Given the description of an element on the screen output the (x, y) to click on. 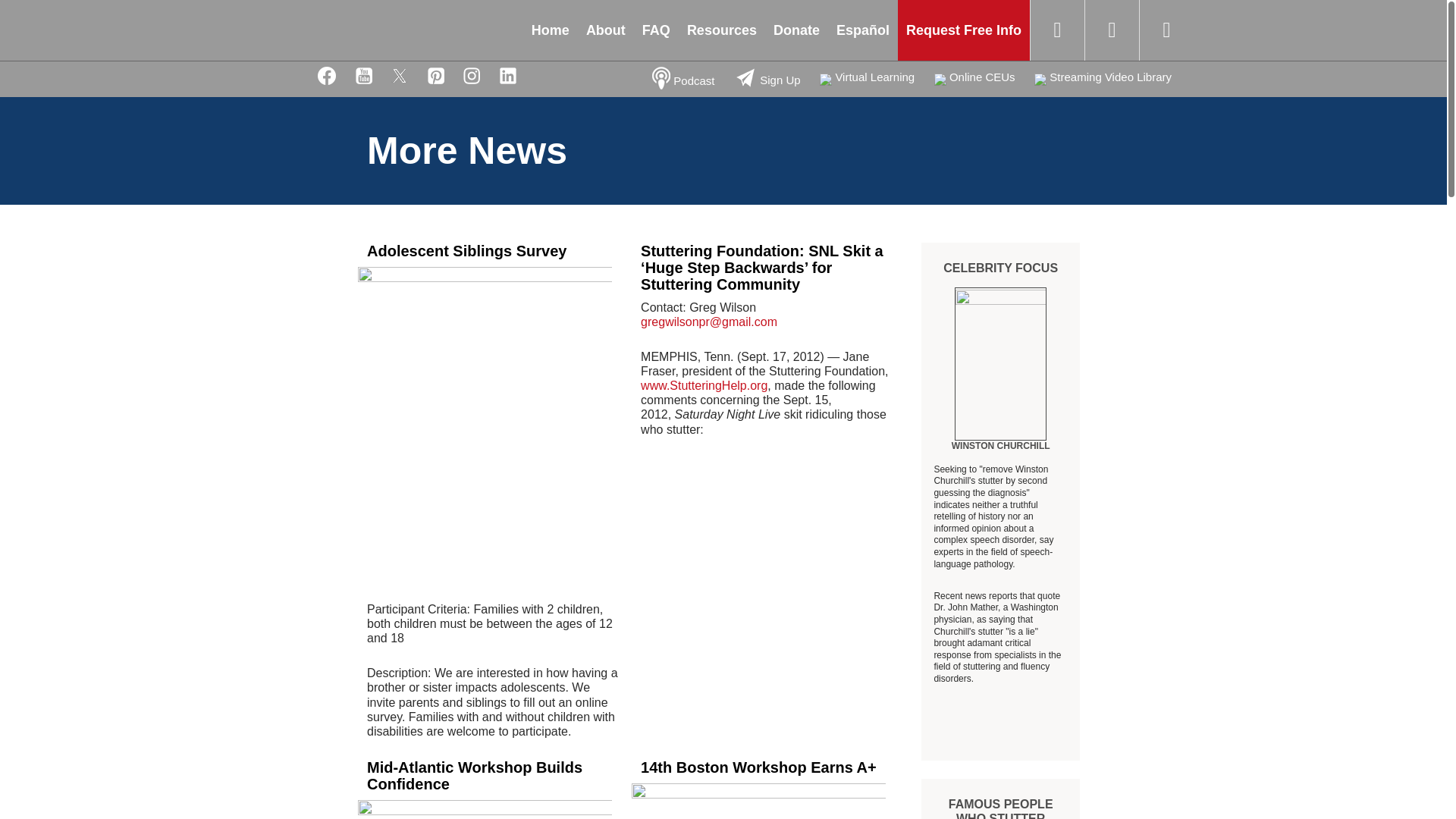
Home (379, 30)
Request Free Info (963, 30)
Home (550, 30)
Donate (796, 30)
Resources (721, 30)
About (605, 30)
